Given the description of an element on the screen output the (x, y) to click on. 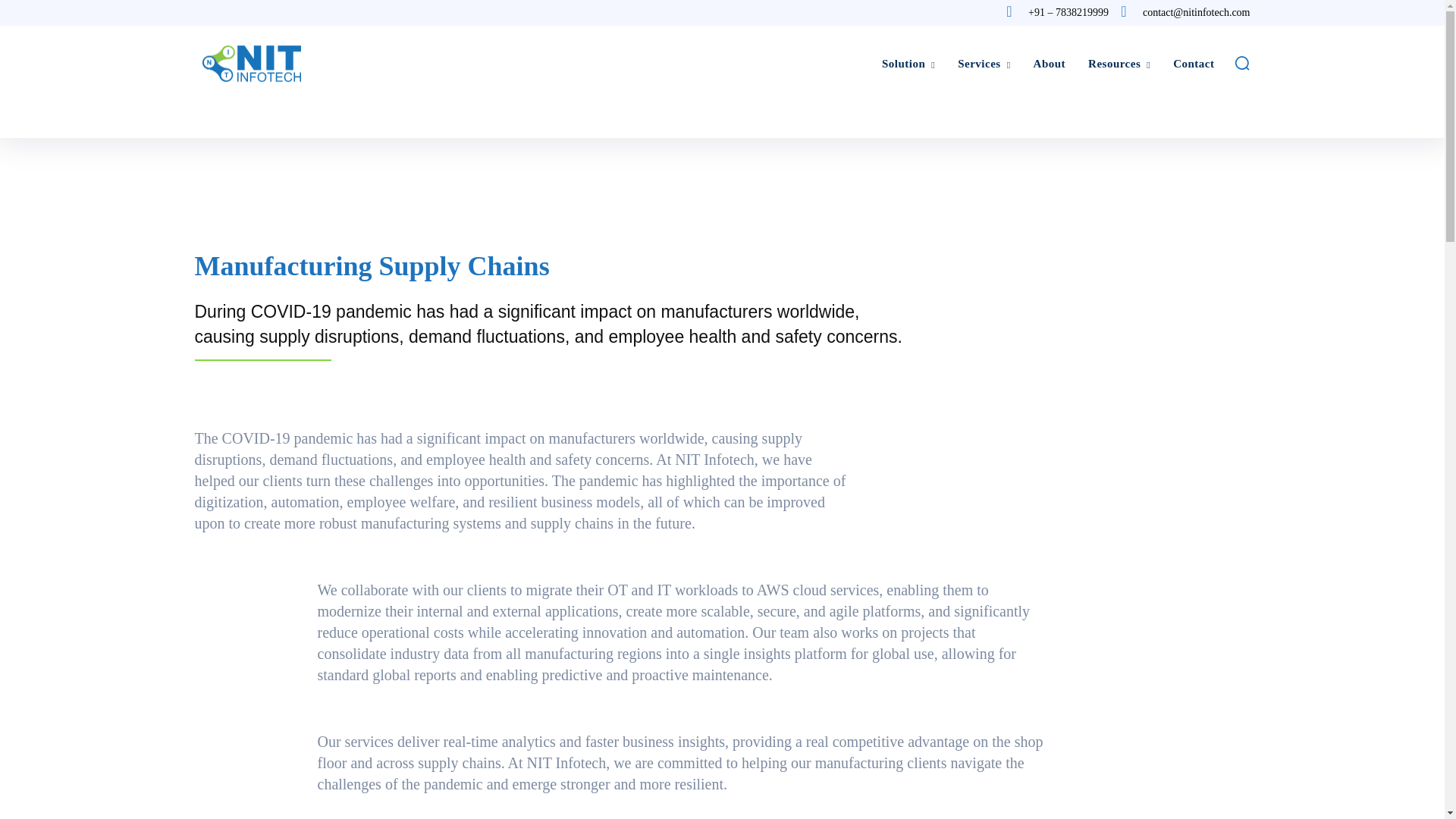
Solution (908, 63)
